Given the description of an element on the screen output the (x, y) to click on. 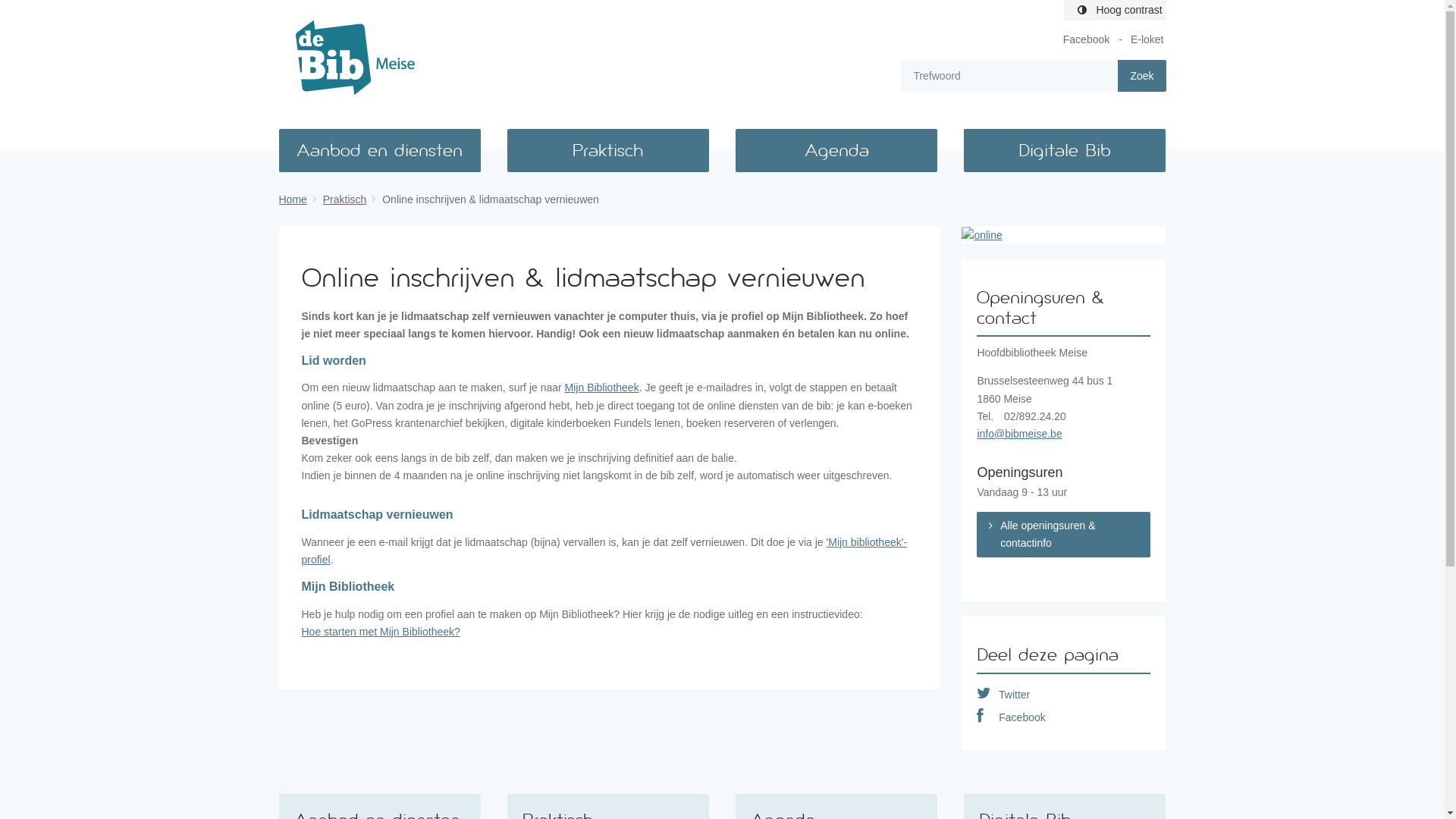
Facebook Element type: text (1086, 39)
trefwoord Element type: hover (1008, 75)
info@bibmeise.be Element type: text (1018, 433)
Zoeken Element type: hover (1141, 75)
Twitter Element type: text (1002, 694)
online (grote weergave) Element type: hover (1063, 234)
Agenda Element type: text (836, 150)
Aanbod en diensten Element type: text (379, 150)
Hoe starten met Mijn Bibliotheek? Element type: text (380, 631)
Praktisch Element type: text (351, 199)
Hoog contrast Element type: text (1114, 10)
'Mijn bibliotheek'-profiel Element type: text (604, 550)
Digitale Bib Element type: text (1064, 150)
Mijn Bibliotheek Element type: text (601, 387)
Facebook Element type: text (1010, 717)
Zoek Element type: text (1141, 75)
E-loket Element type: text (1147, 39)
Alle openingsuren & contactinfo Element type: text (1063, 534)
Home Element type: text (299, 199)
Praktisch Element type: text (608, 150)
